Given the description of an element on the screen output the (x, y) to click on. 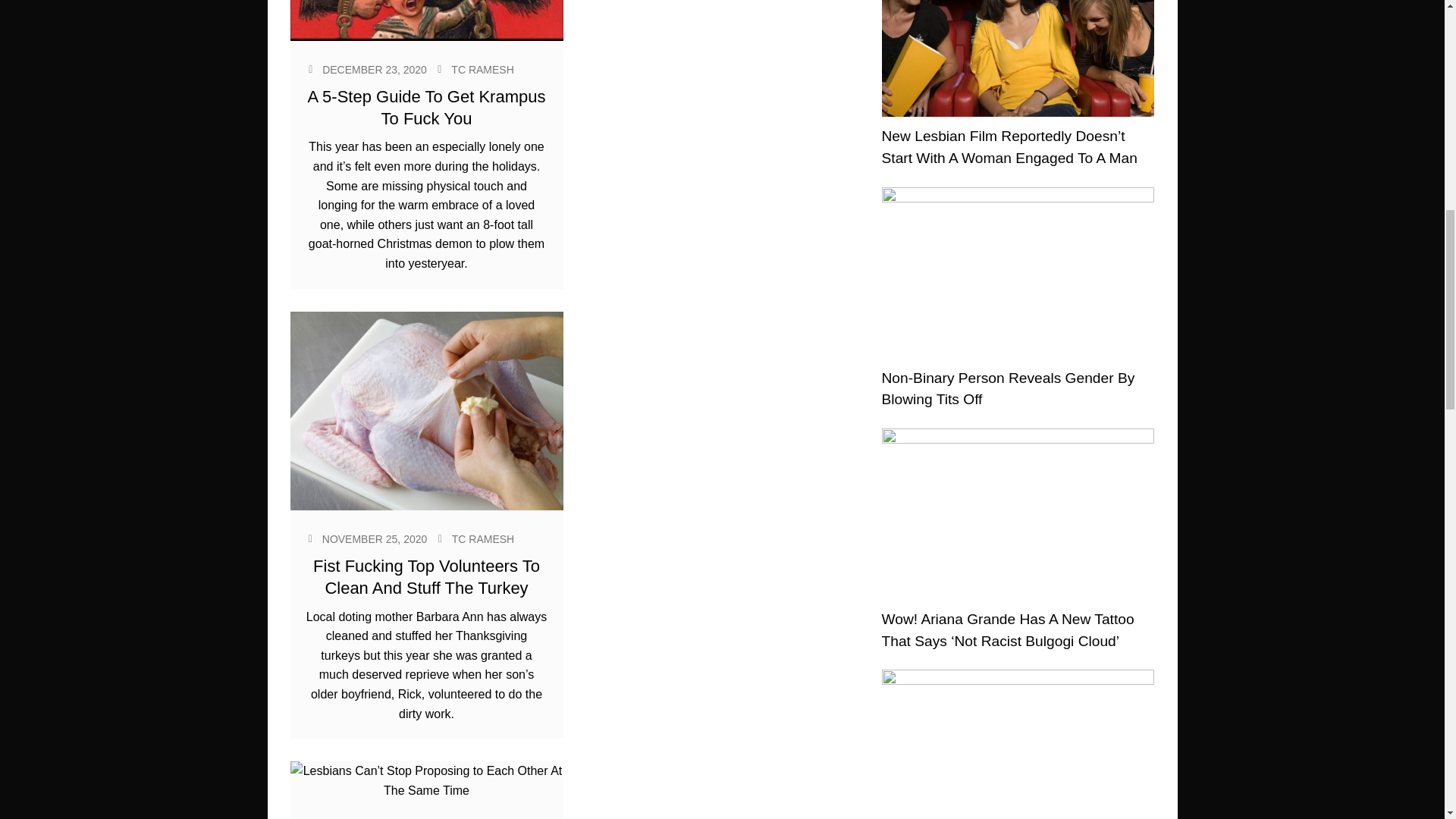
TC RAMESH (482, 539)
DECEMBER 23, 2020 (373, 69)
A 5-Step Guide To Get Krampus To Fuck You (426, 106)
NOVEMBER 25, 2020 (374, 539)
TC RAMESH (482, 69)
Fist Fucking Top Volunteers To Clean And Stuff The Turkey (426, 576)
